Given the description of an element on the screen output the (x, y) to click on. 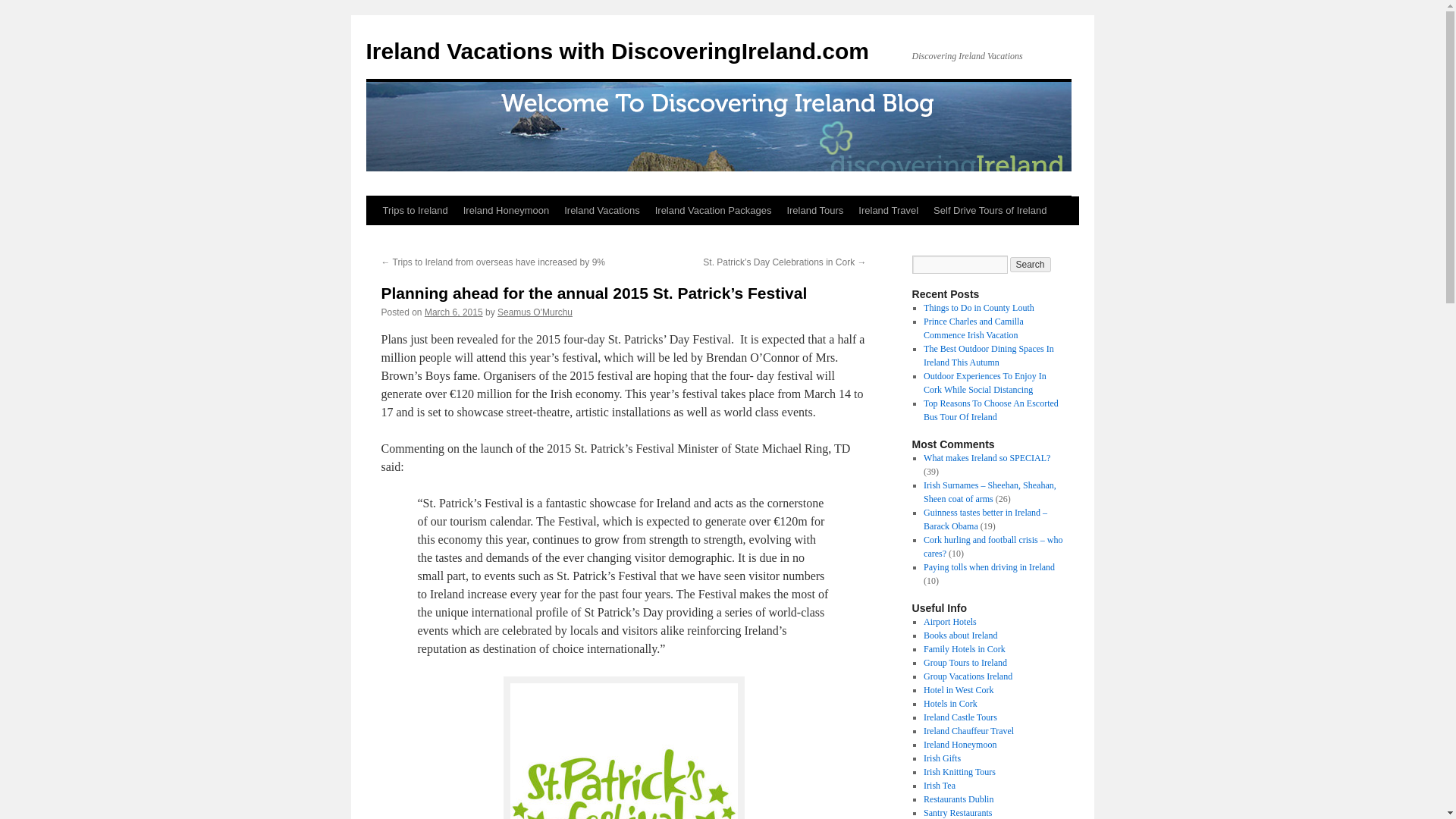
Ireland Vacations with DiscoveringIreland.com (617, 50)
Ireland Travel (888, 210)
4:55 pm (454, 312)
View all posts by Seamus O'Murchu (534, 312)
Search (1030, 264)
Ireland Tours (814, 210)
Trips to Ireland (414, 210)
Ireland Vacations with DiscoveringIreland.com (617, 50)
Self Drive Tours of Ireland (990, 210)
Seamus O'Murchu (534, 312)
Ireland Vacations (601, 210)
March 6, 2015 (454, 312)
Ireland Vacation Packages (712, 210)
What makes Ireland so SPECIAL? (986, 457)
Ireland Honeymoon (505, 210)
